Given the description of an element on the screen output the (x, y) to click on. 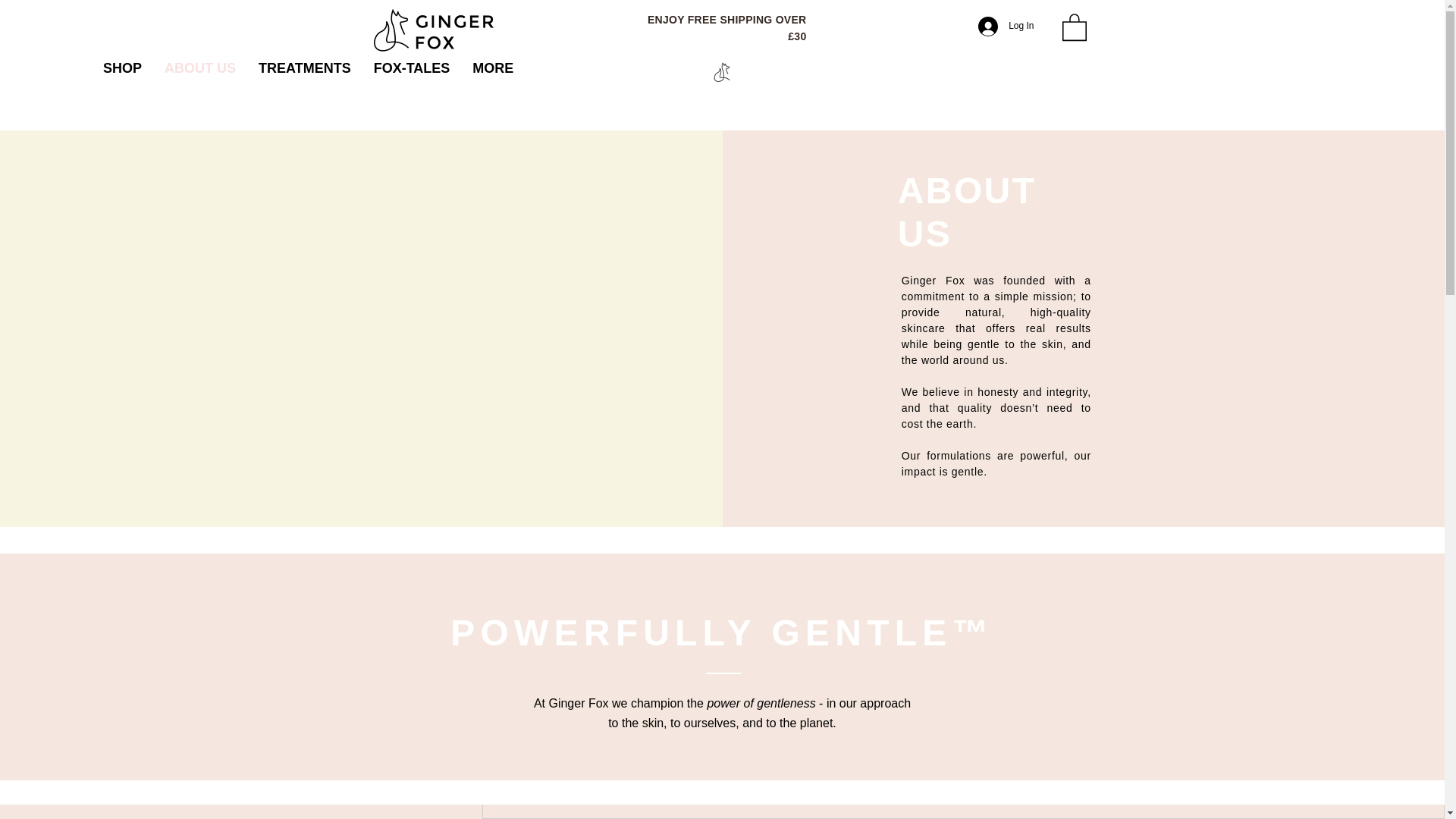
SHOP (121, 72)
ABOUT US (199, 72)
FOX-TALES (411, 72)
TREATMENTS (304, 72)
Log In (1005, 26)
